Given the description of an element on the screen output the (x, y) to click on. 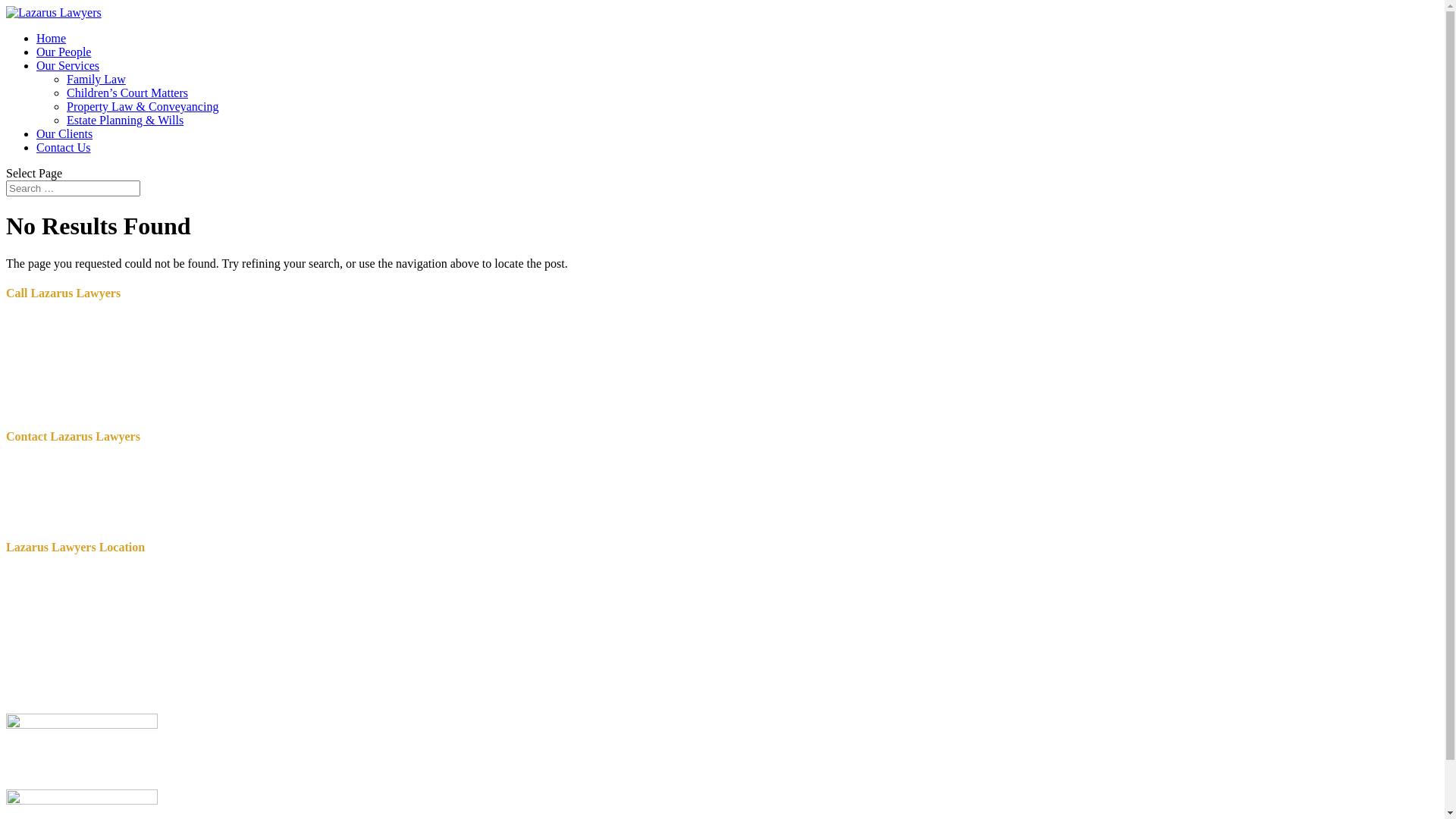
Home Element type: text (50, 37)
nicole@lazaruslawyers.com.au Element type: text (119, 479)
Our People Element type: text (63, 51)
Property Law & Conveyancing Element type: text (142, 106)
Contact Us Element type: text (63, 147)
Search for: Element type: hover (73, 188)
diana@lazaruslawyers.com.au Element type: text (117, 465)
Estate Planning & Wills Element type: text (124, 119)
(02) 8005 3000 Element type: text (82, 322)
Our Clients Element type: text (64, 133)
Our Services Element type: text (67, 65)
Family Law Element type: text (95, 78)
Level 8, 65 York Street
Sydney, NSW 2000 Element type: text (62, 615)
0401 067 974 Element type: text (117, 385)
0417 273 207 Element type: text (116, 354)
